Given the description of an element on the screen output the (x, y) to click on. 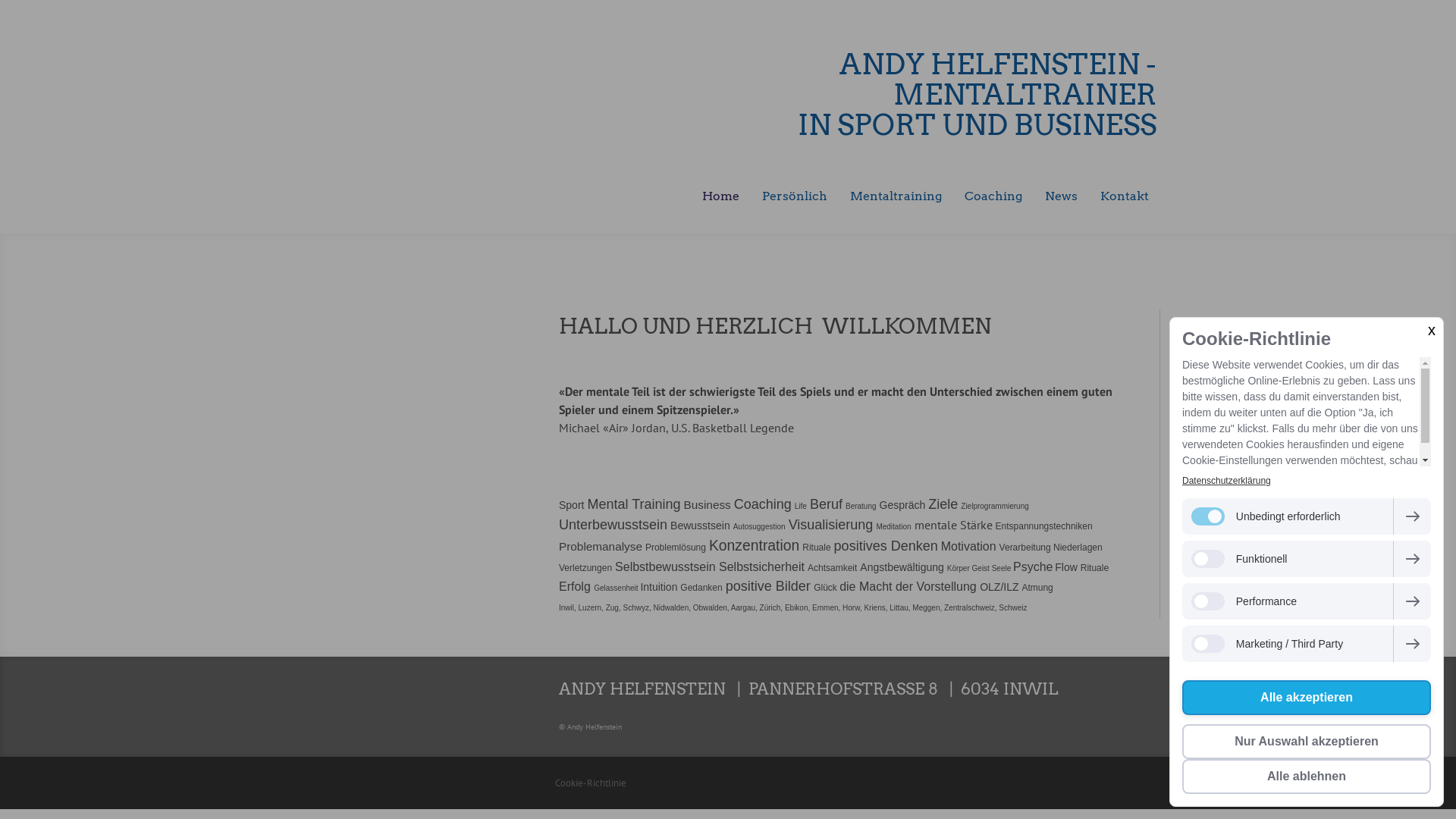
News Element type: text (1060, 197)
Alle ablehnen Element type: text (1306, 776)
Home Element type: text (720, 197)
ANDY HELFENSTEIN - MENTALTRAINER
IN SPORT UND BUSINESS Element type: text (879, 94)
Kontakt Element type: text (1124, 197)
Alle akzeptieren Element type: text (1306, 697)
Cookie-Richtlinie Element type: text (590, 782)
Coaching Element type: text (993, 197)
Nur Auswahl akzeptieren Element type: text (1306, 741)
Mentaltraining Element type: text (895, 197)
